Given the description of an element on the screen output the (x, y) to click on. 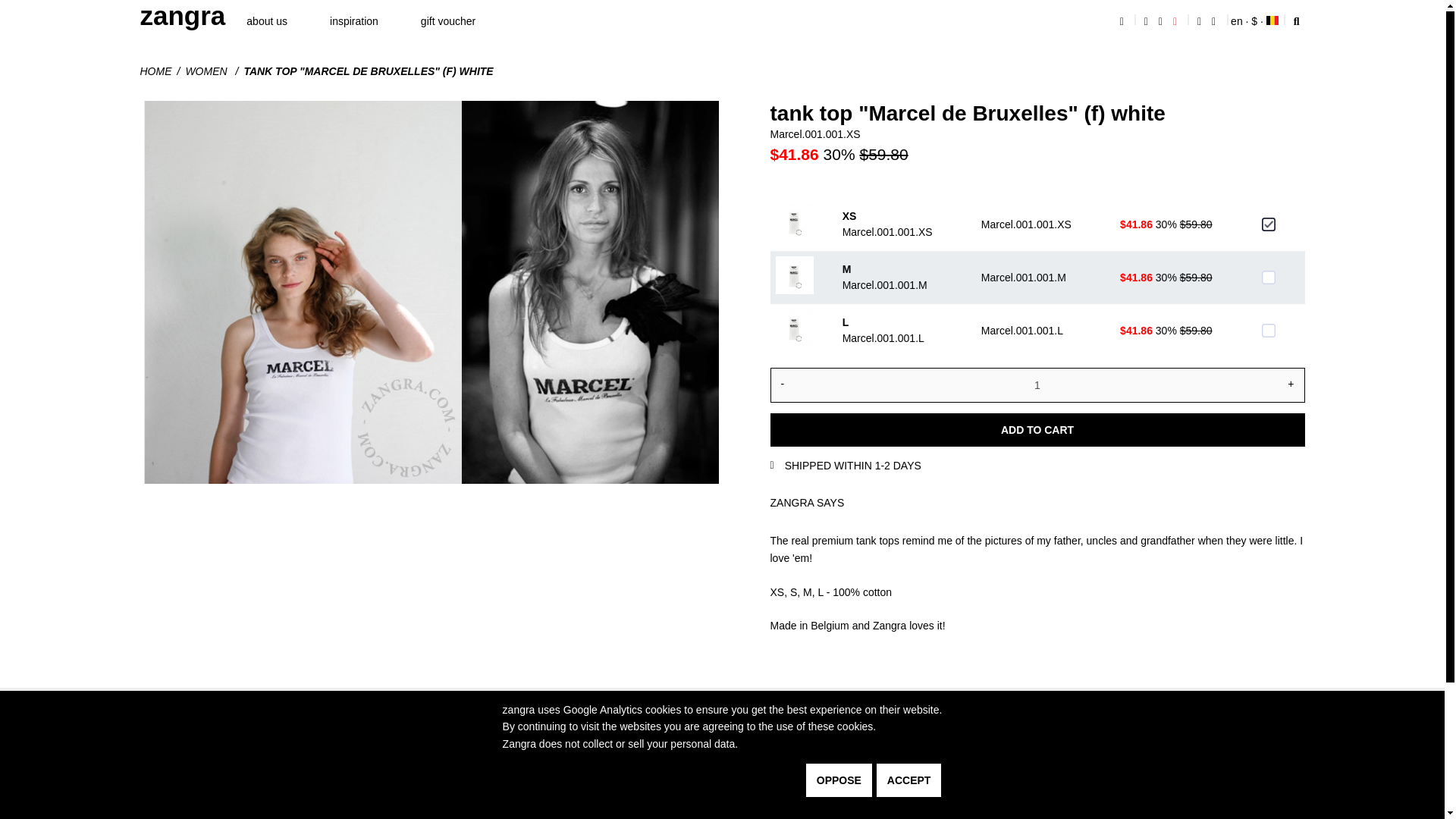
Marcel.001.001.XS (1268, 223)
inspiration (354, 21)
who are we? (845, 752)
about us (266, 21)
contact (1215, 21)
Marcel.001.001.L (1268, 330)
HOME (161, 71)
My account (1146, 21)
my orders (1205, 752)
zangra (182, 15)
1 (1037, 384)
payment (1023, 774)
forgot password ? (1224, 814)
facebook (1381, 774)
pinterest (1379, 795)
